Given the description of an element on the screen output the (x, y) to click on. 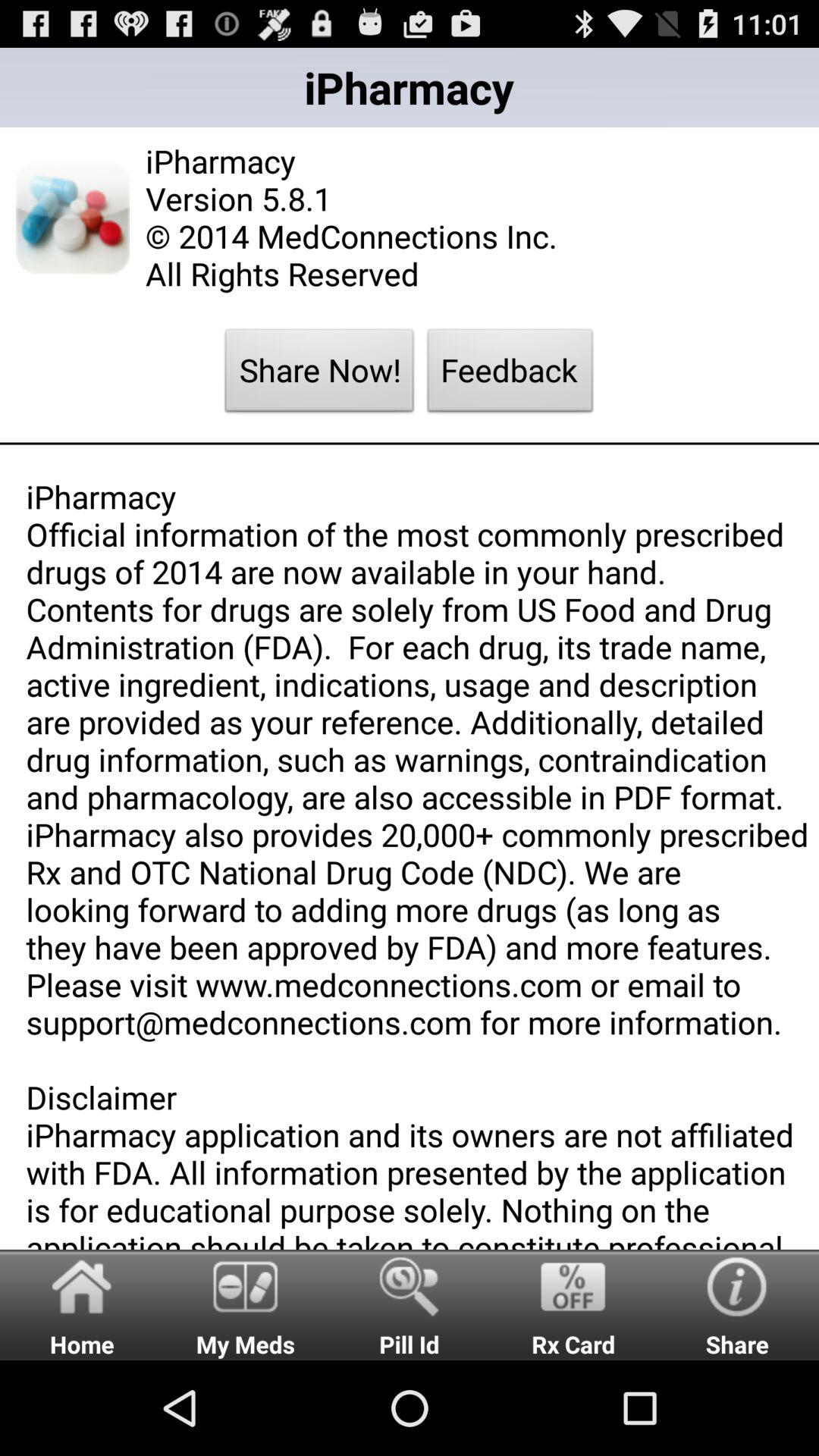
turn on the radio button to the left of the pill id item (245, 1304)
